Given the description of an element on the screen output the (x, y) to click on. 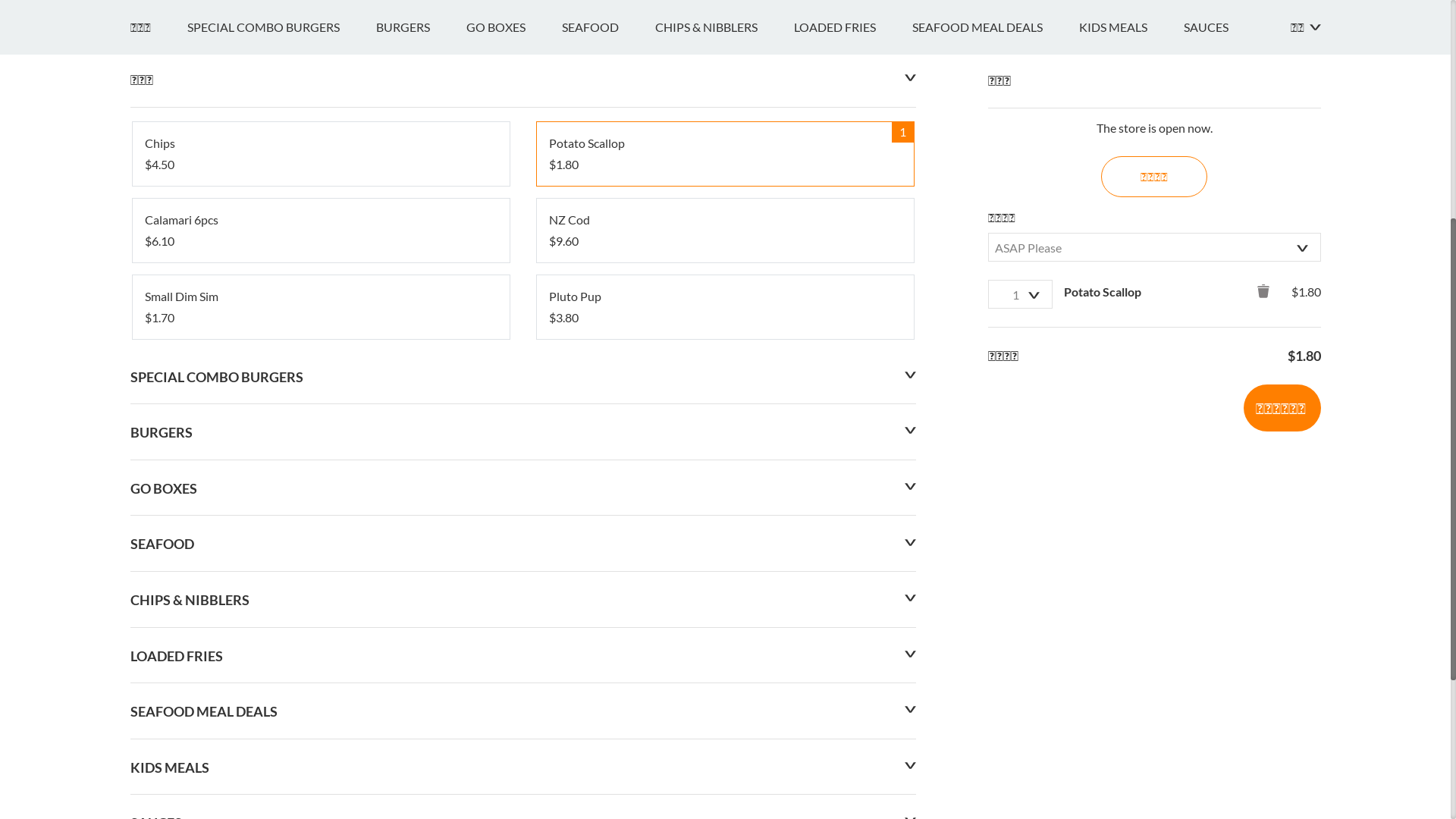
SEAFOOD MEAL DEALS Element type: text (994, 414)
Calamari 6pcs
$6.10 Element type: text (320, 617)
Pluto Pup
$3.80 Element type: text (725, 694)
Fish Burger Element type: text (199, 223)
Potato Scallop
$1.80 Element type: text (725, 541)
EN Element type: text (138, 16)
Pluto Pup
$3.80 Element type: text (725, 694)
Small Dim Sim
$1.70 Element type: text (320, 694)
LOADED FRIES Element type: text (852, 414)
SAUCES Element type: text (1223, 414)
Calamari 6pcs
$6.10 Element type: text (320, 617)
NZ Cod
$9.60 Element type: text (725, 617)
SPECIAL COMBO BURGERS Element type: text (280, 414)
SEAFOOD Element type: text (607, 414)
KIDS MEALS Element type: text (1130, 414)
4.1 Element type: text (146, 278)
NZ Cod
$9.60 Element type: text (725, 617)
GO BOXES Element type: text (513, 414)
BURGERS Element type: text (421, 414)
Chips
$4.50 Element type: text (320, 541)
Potato Scallop
$1.80
1 Element type: text (725, 541)
Chips
$4.50 Element type: text (320, 541)
CHIPS & NIBBLERS Element type: text (724, 414)
Small Dim Sim
$1.70 Element type: text (320, 694)
